Given the description of an element on the screen output the (x, y) to click on. 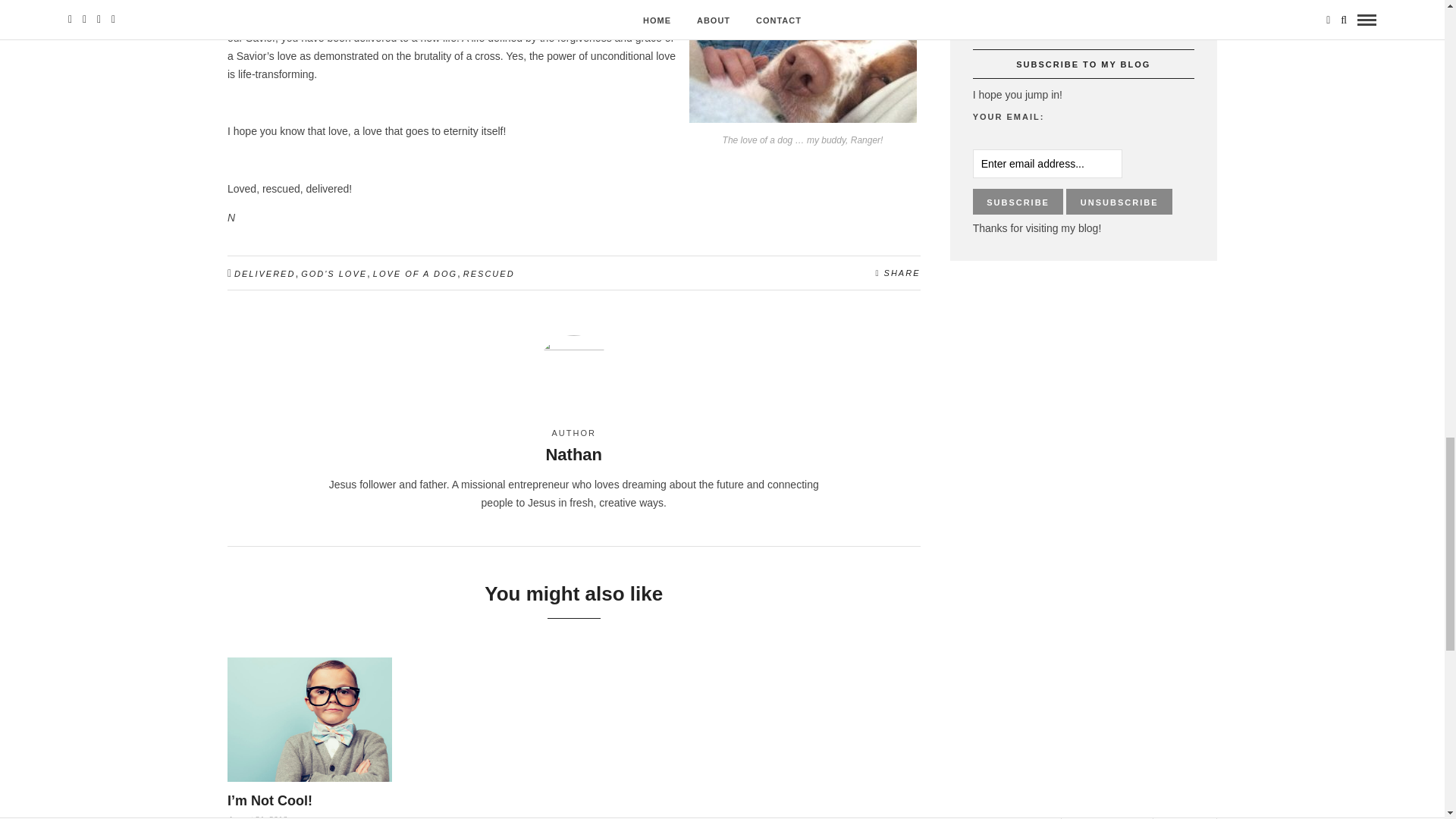
RESCUED (489, 273)
Unsubscribe (1118, 201)
GOD'S LOVE (333, 273)
DELIVERED (264, 273)
LOVE OF A DOG (414, 273)
Enter email address... (1047, 163)
Subscribe (1018, 201)
